Given the description of an element on the screen output the (x, y) to click on. 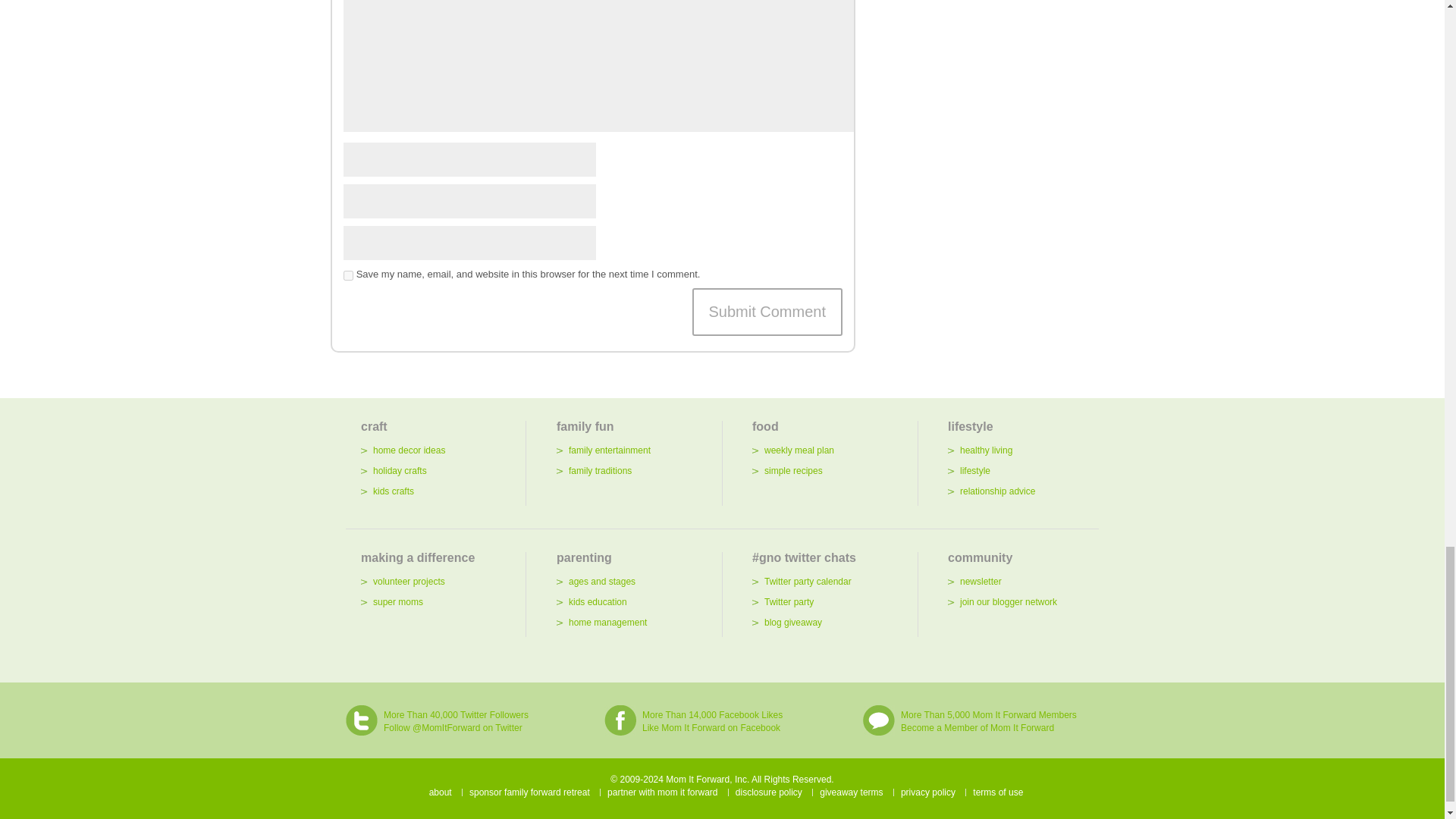
Submit Comment (767, 311)
yes (348, 275)
